Given the description of an element on the screen output the (x, y) to click on. 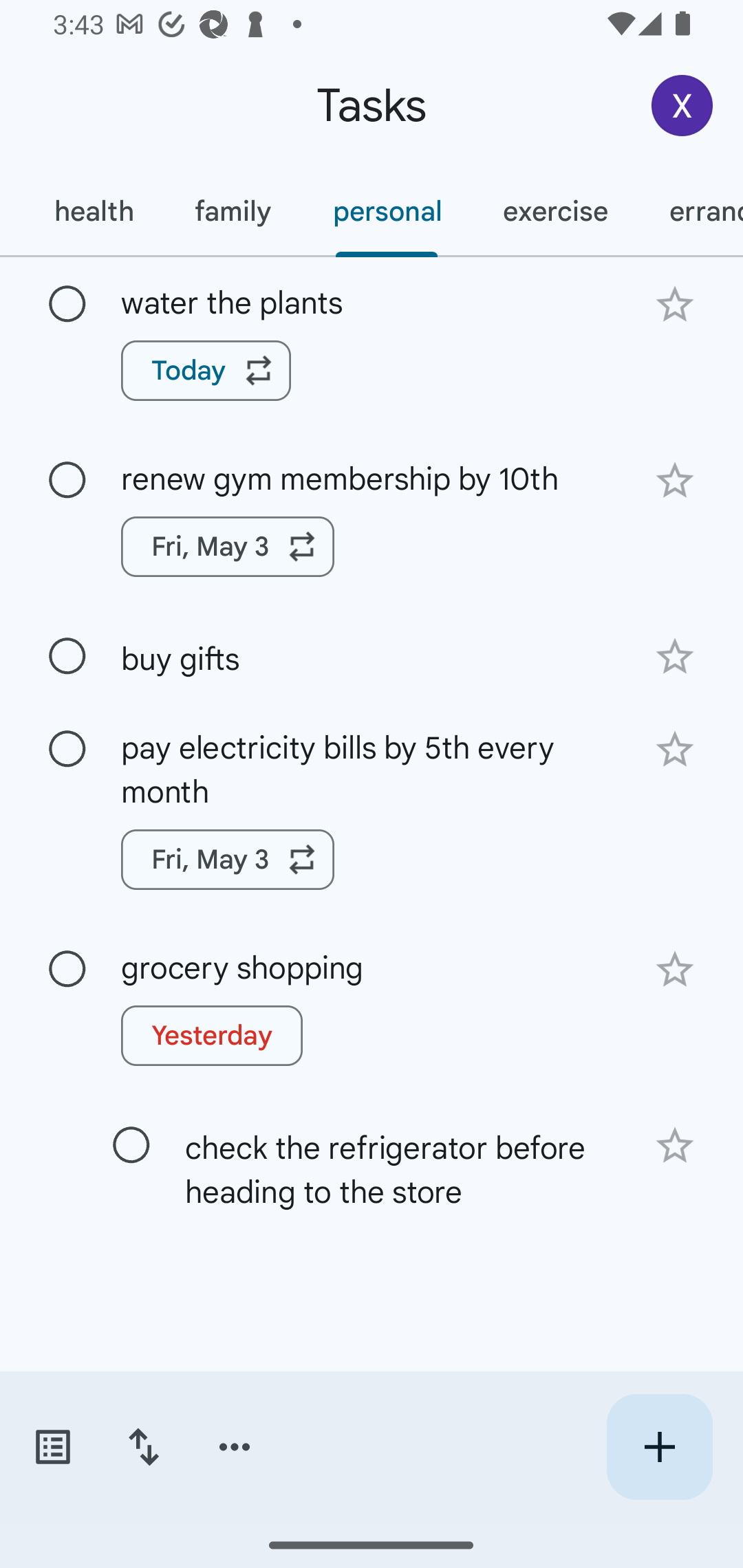
health (93, 211)
family (232, 211)
exercise (554, 211)
errands (690, 211)
Add star (674, 303)
Mark as complete (67, 304)
Today (206, 369)
Add star (674, 480)
Mark as complete (67, 480)
Fri, May 3 (227, 546)
buy gifts buy gifts Add star Mark as complete (371, 655)
Add star (674, 656)
Mark as complete (67, 655)
Add star (674, 749)
Mark as complete (67, 750)
Fri, May 3 (227, 858)
Add star (674, 968)
Mark as complete (67, 969)
Yesterday (211, 1035)
Add star (674, 1145)
Mark as complete (131, 1145)
Switch task lists (52, 1447)
Create new task (659, 1446)
Change sort order (143, 1446)
More options (234, 1446)
